Given the description of an element on the screen output the (x, y) to click on. 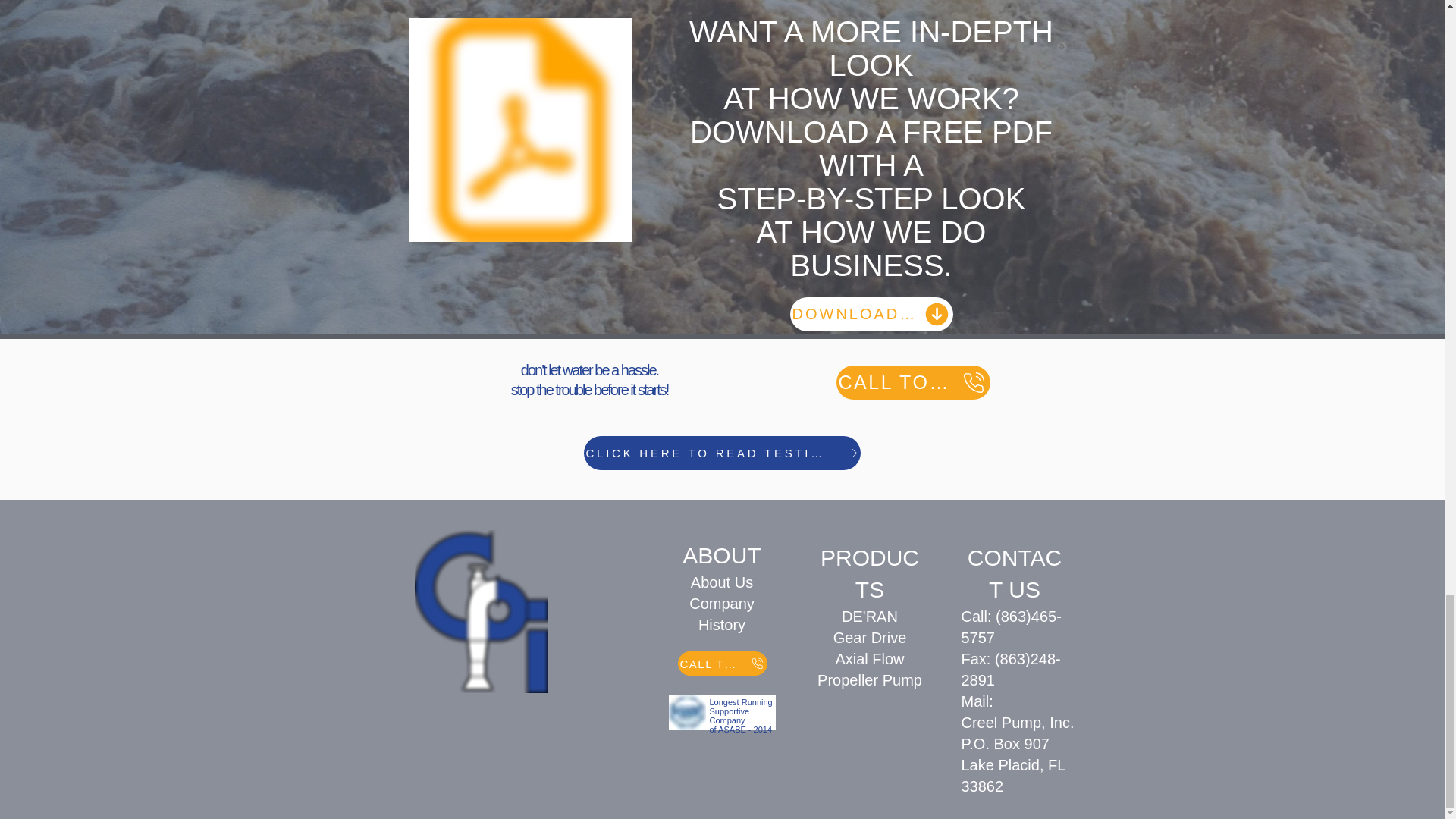
About Us (868, 669)
award.jpg (721, 582)
DOWNLOAD PDF (687, 712)
Company History (871, 314)
CALL TODAY! (721, 614)
CONTACT US (722, 663)
CALL TODAY! (1014, 573)
CLICK HERE TO READ TESTIMONIALS (912, 382)
